Given the description of an element on the screen output the (x, y) to click on. 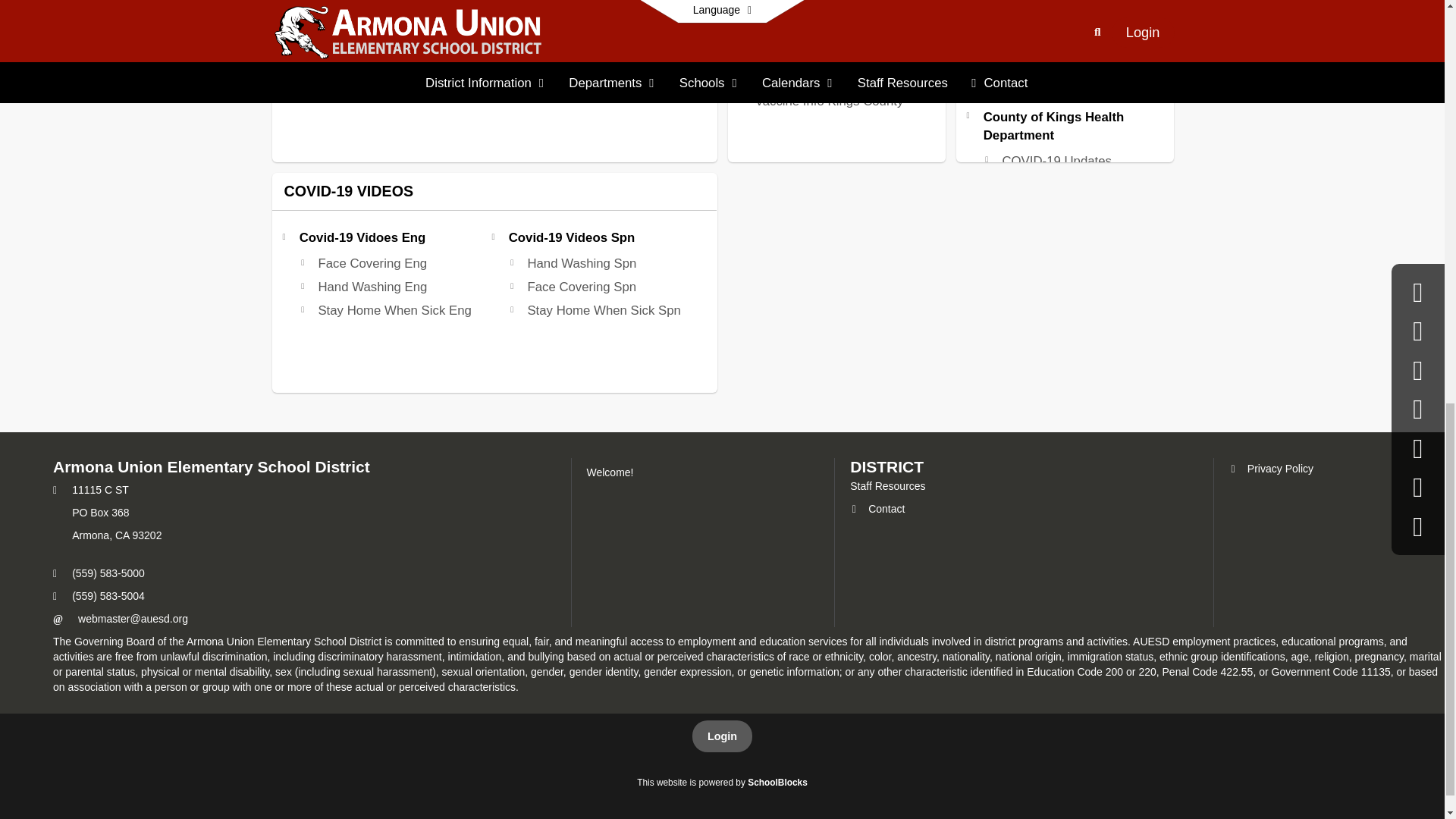
COVID-19 Data Tracker (1069, 41)
Primary Phone Number (54, 573)
Fax (54, 596)
10 Things to Manage Covid19 at Home Eng (391, 16)
Staff Resources (887, 485)
Email (132, 618)
Email (57, 619)
Privacy Policy (1270, 468)
COVID-19 (1030, 17)
Non Pharmaceutical Interventions (1058, 73)
Contact (877, 508)
